Given the description of an element on the screen output the (x, y) to click on. 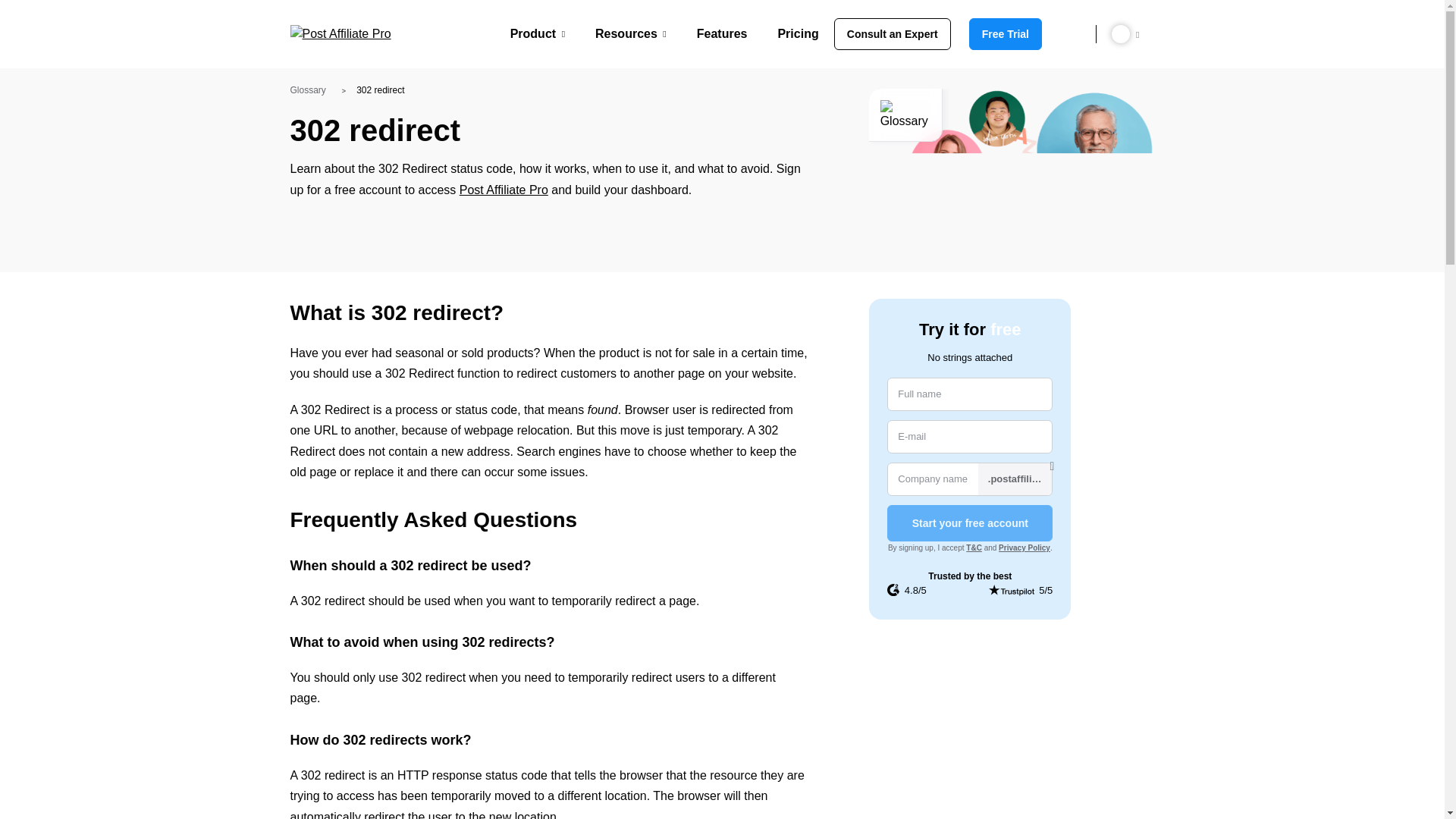
PostAffiliatePro affiliate software (345, 33)
Resources (630, 33)
Product (537, 33)
Pricing (797, 33)
Features (722, 33)
